Given the description of an element on the screen output the (x, y) to click on. 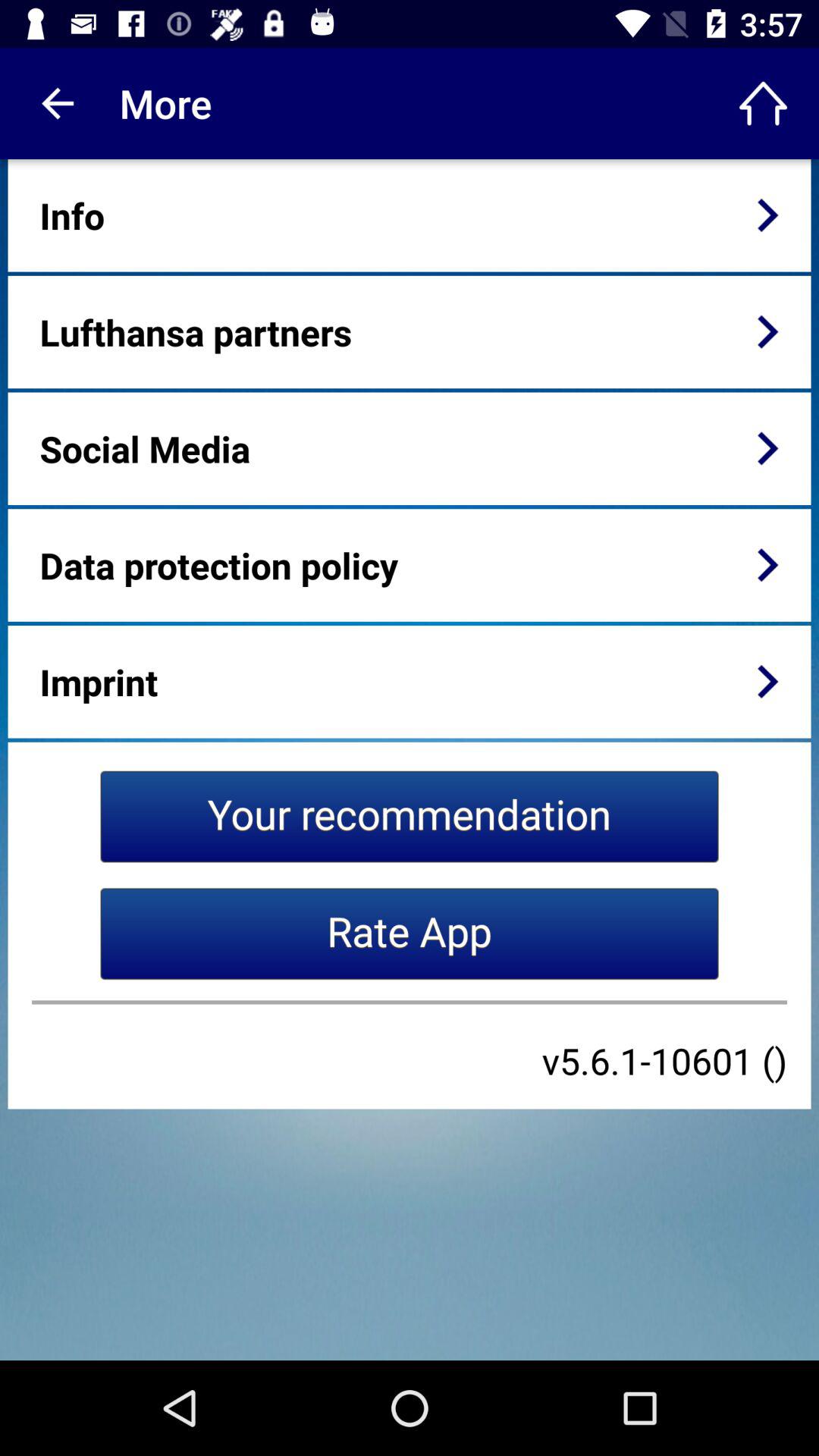
turn on the item to the right of info item (768, 214)
